Given the description of an element on the screen output the (x, y) to click on. 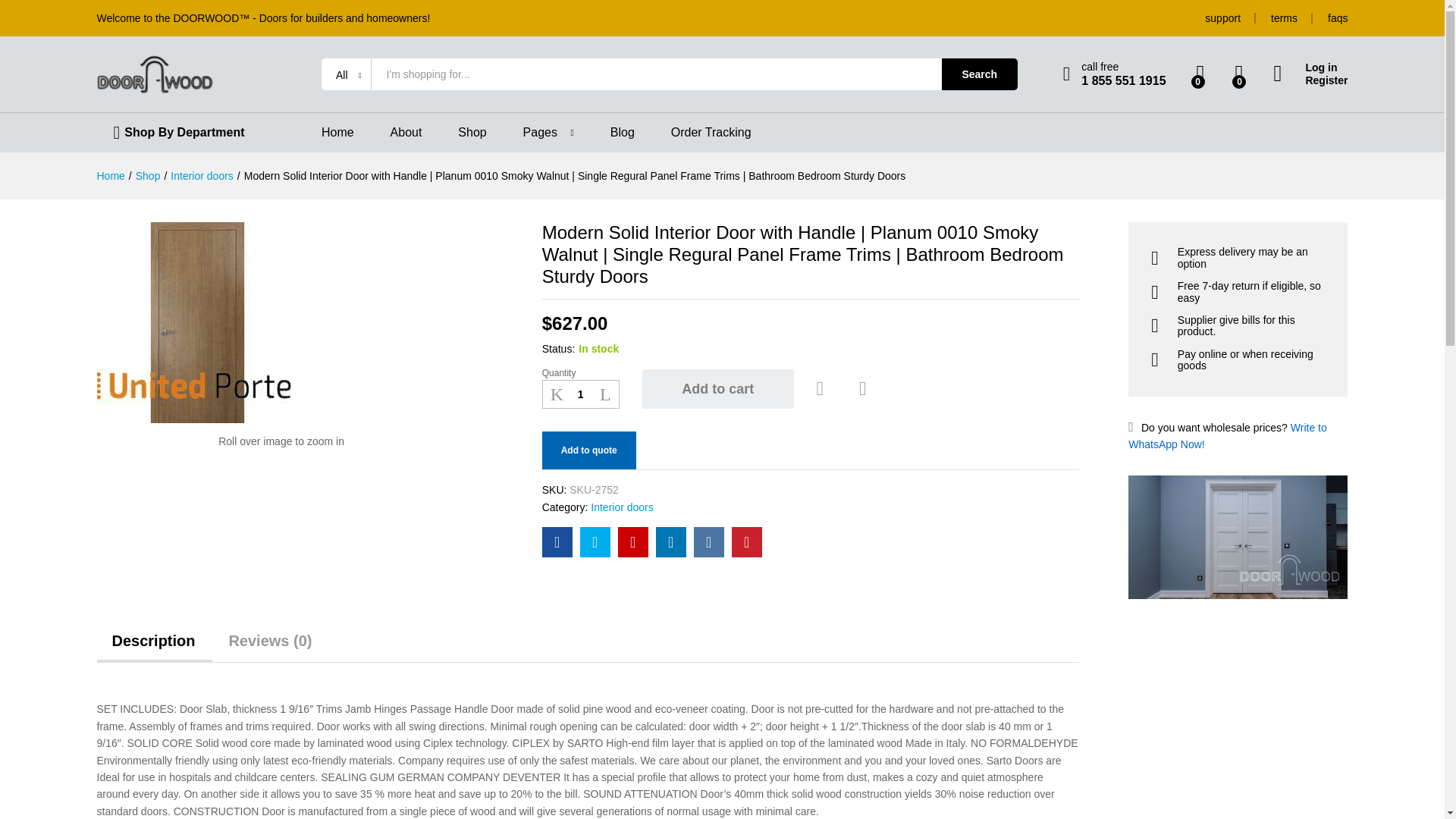
Interior doors (201, 175)
Add to wishlist (821, 388)
Home (337, 132)
Compare (863, 388)
Pages (539, 132)
Add to cart (717, 388)
Shop (147, 175)
Qty (580, 393)
1 (580, 393)
Order Tracking (711, 132)
terms (1284, 18)
Shop (472, 132)
Add to quote (588, 450)
Register (1310, 80)
Search (979, 74)
